Given the description of an element on the screen output the (x, y) to click on. 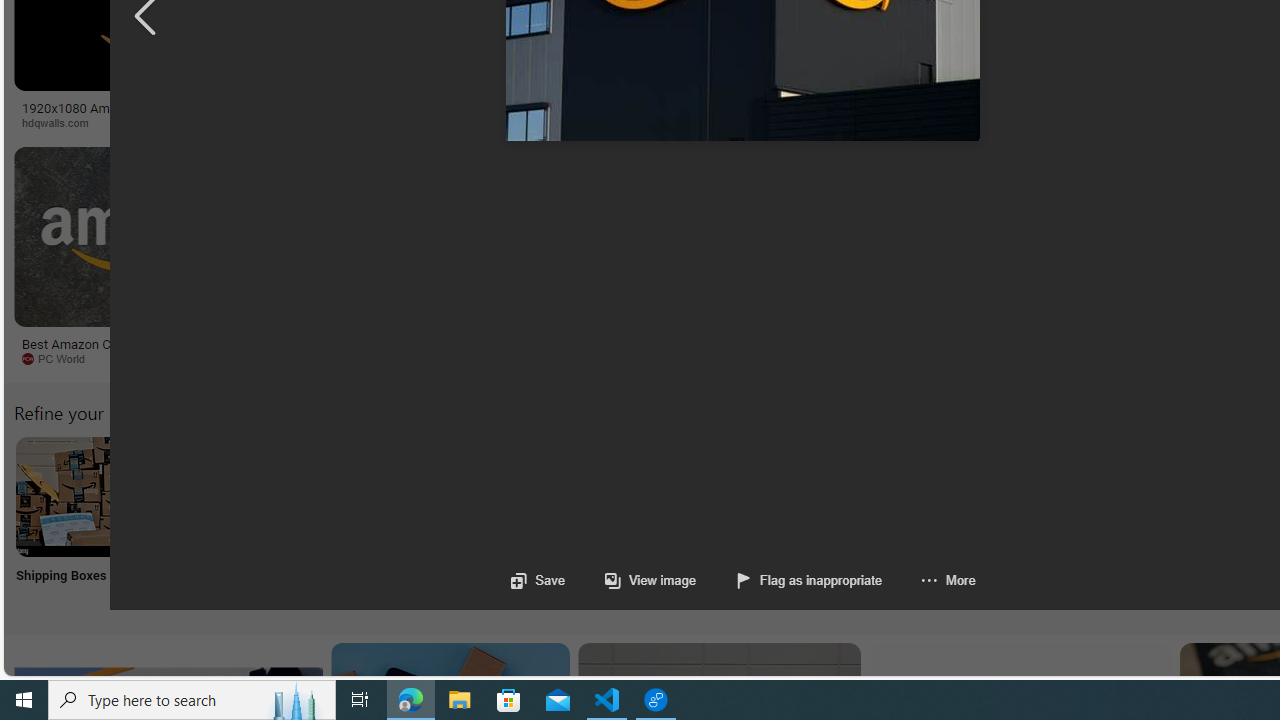
Amazon Shipping Boxes (75, 496)
Online Shopping Search (207, 521)
Amazon Jobs Near Me Jobs Near Me (604, 521)
More (948, 580)
Save (537, 580)
manilashaker.com (1162, 358)
Amazon Shipping Boxes Shipping Boxes (75, 521)
The Verge (335, 358)
Amazon Online Store (1131, 496)
Best Amazon Cyber Monday deals 2019 | PCWorld (146, 350)
Amazon Wish List (999, 496)
